Given the description of an element on the screen output the (x, y) to click on. 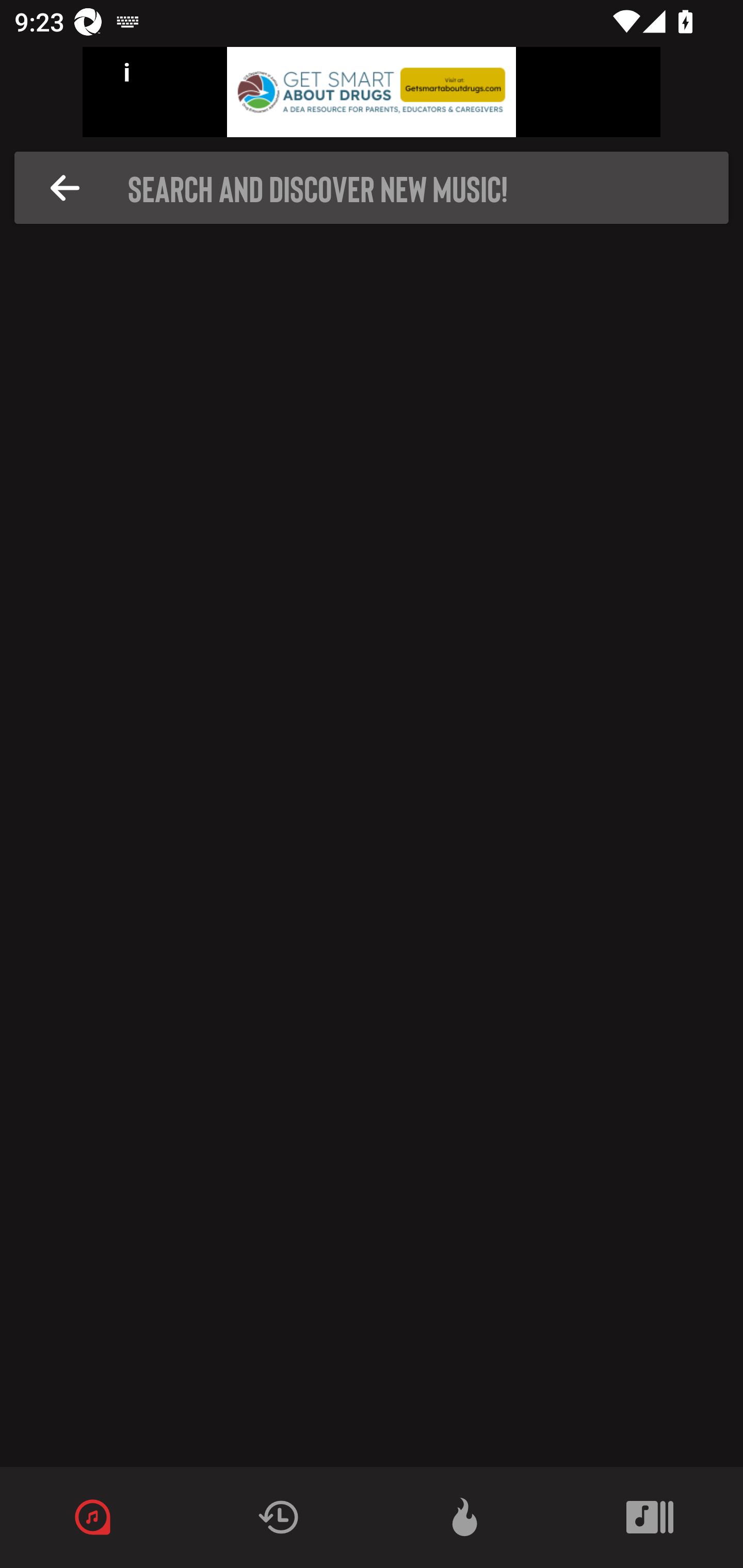
SEARCH AND DISCOVER NEW MUSIC! (377, 188)
Description (64, 188)
